Given the description of an element on the screen output the (x, y) to click on. 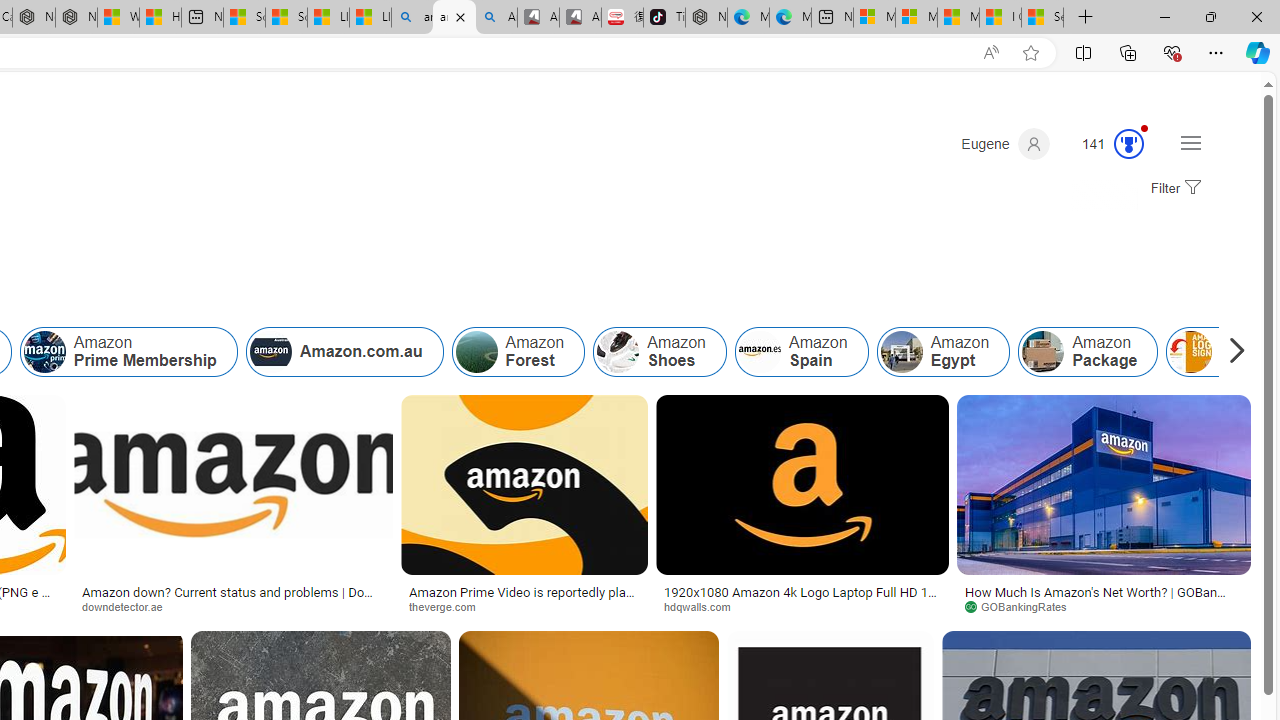
Amazon Package (1042, 351)
amazon - Search Images (453, 17)
downdetector.ae (233, 606)
amazon - Search (411, 17)
How Much Is Amazon's Net Worth? | GOBankingRates (1103, 598)
Amazon Package (1088, 351)
Amazon Shoes (659, 351)
Amazon down? Current status and problems | Downdetector (233, 598)
